Given the description of an element on the screen output the (x, y) to click on. 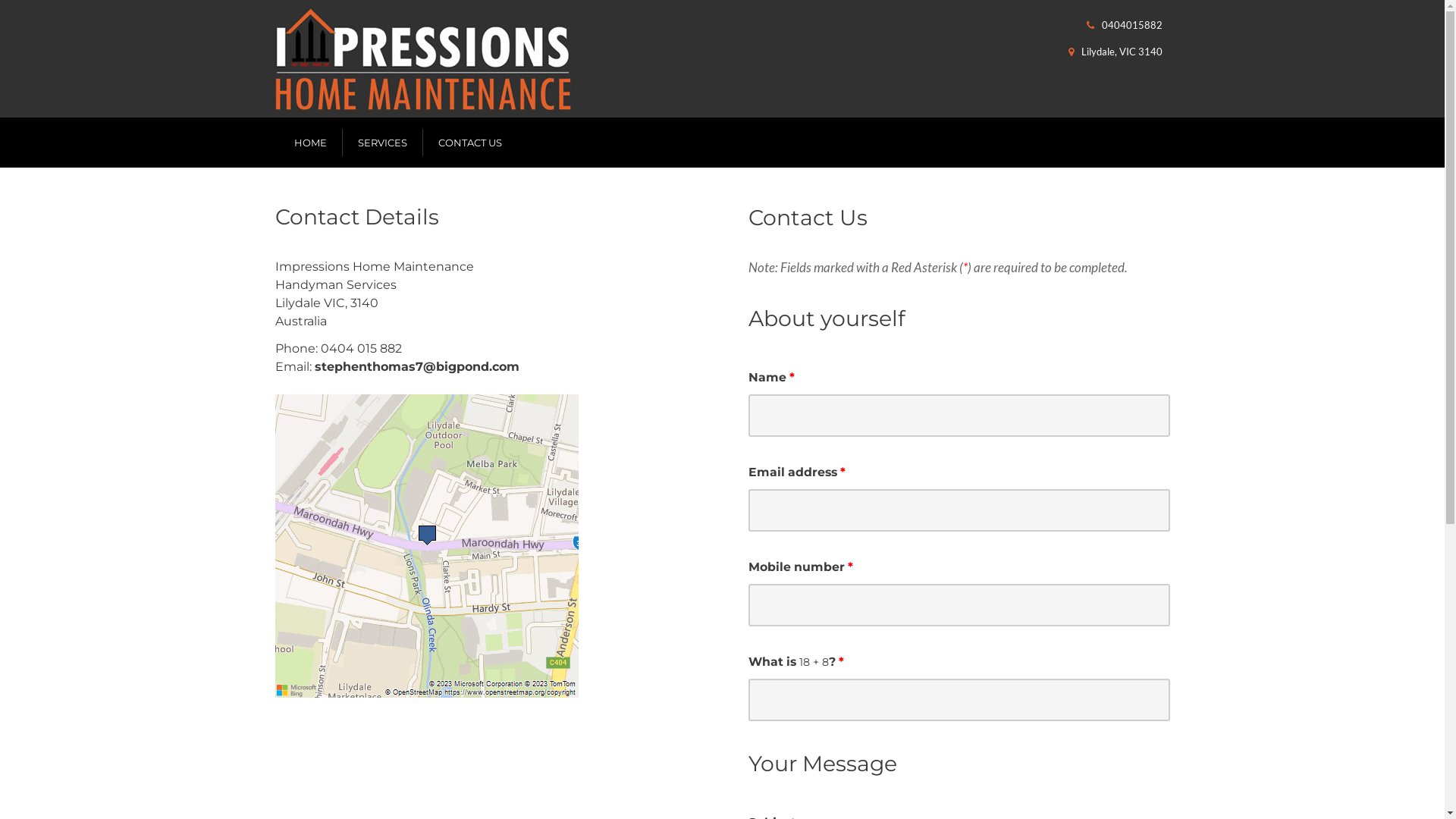
Facebook Element type: text (1149, 86)
SERVICES Element type: text (382, 142)
HOME Element type: text (310, 142)
stephenthomas7@bigpond.com Element type: text (415, 366)
CONTACT US Element type: text (470, 142)
0404015882 Element type: text (1131, 24)
